Given the description of an element on the screen output the (x, y) to click on. 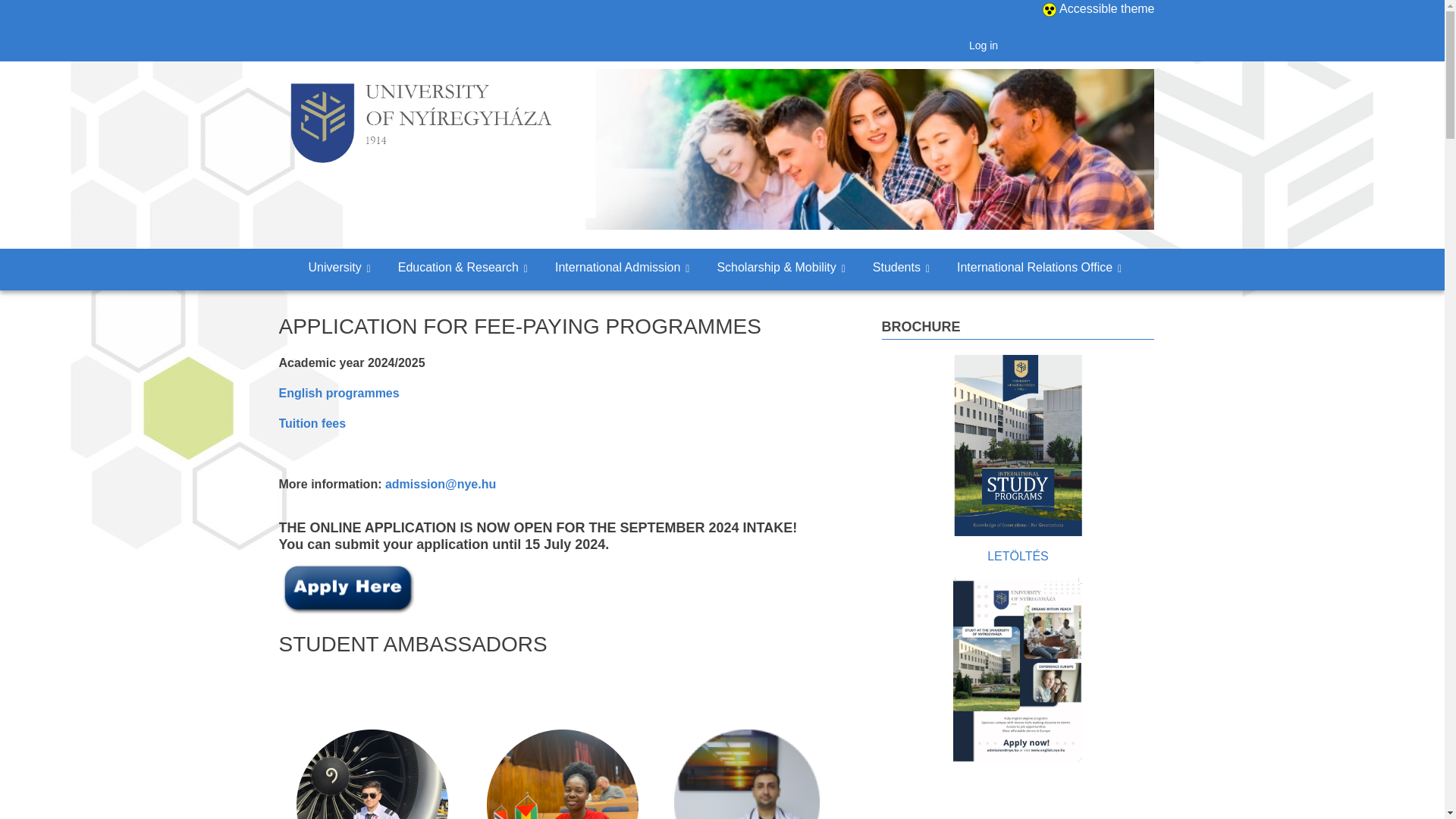
Log in (983, 45)
Accessible theme (1105, 8)
Home (420, 119)
